Given the description of an element on the screen output the (x, y) to click on. 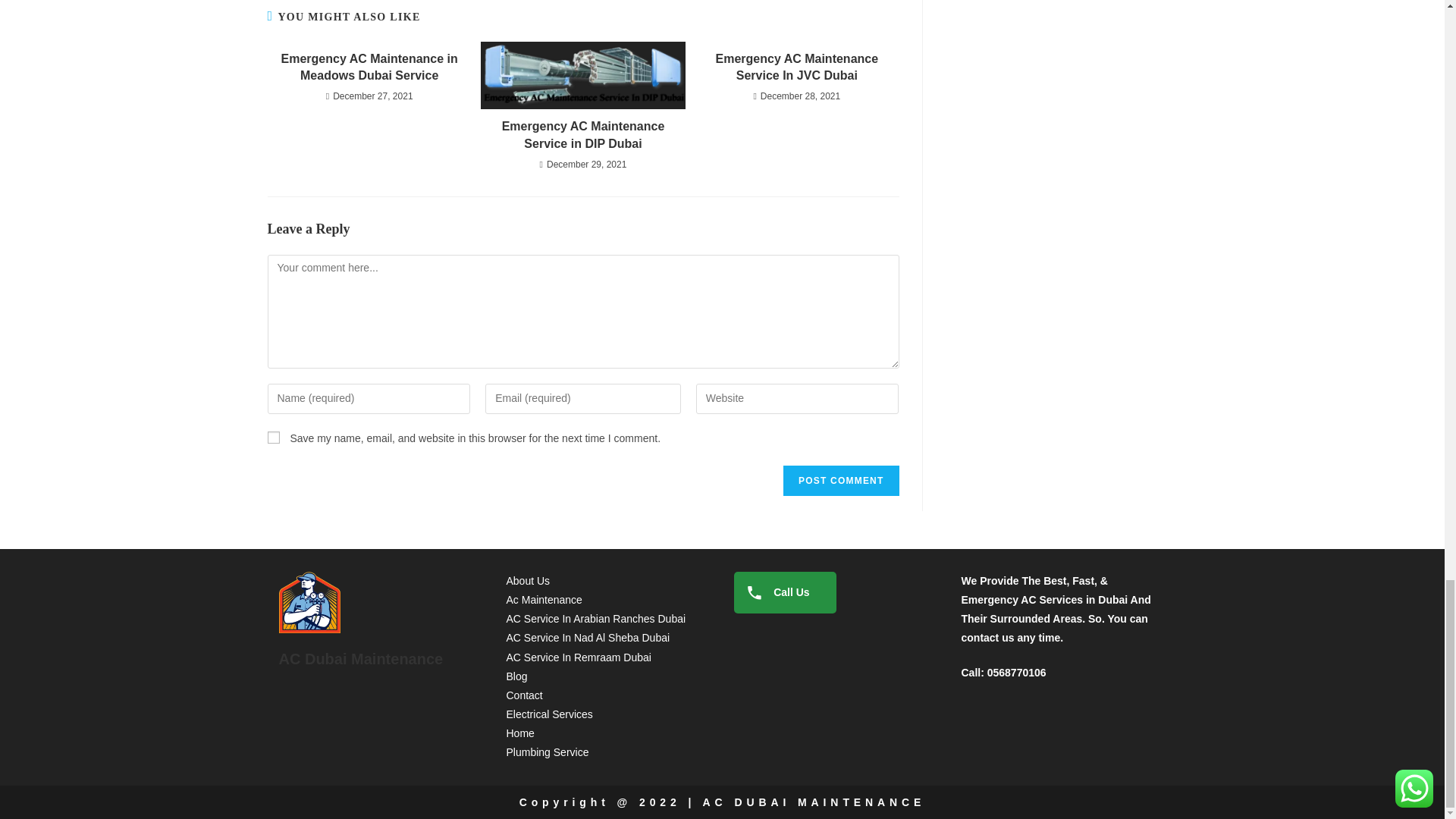
yes (272, 437)
Post Comment (840, 481)
